Given the description of an element on the screen output the (x, y) to click on. 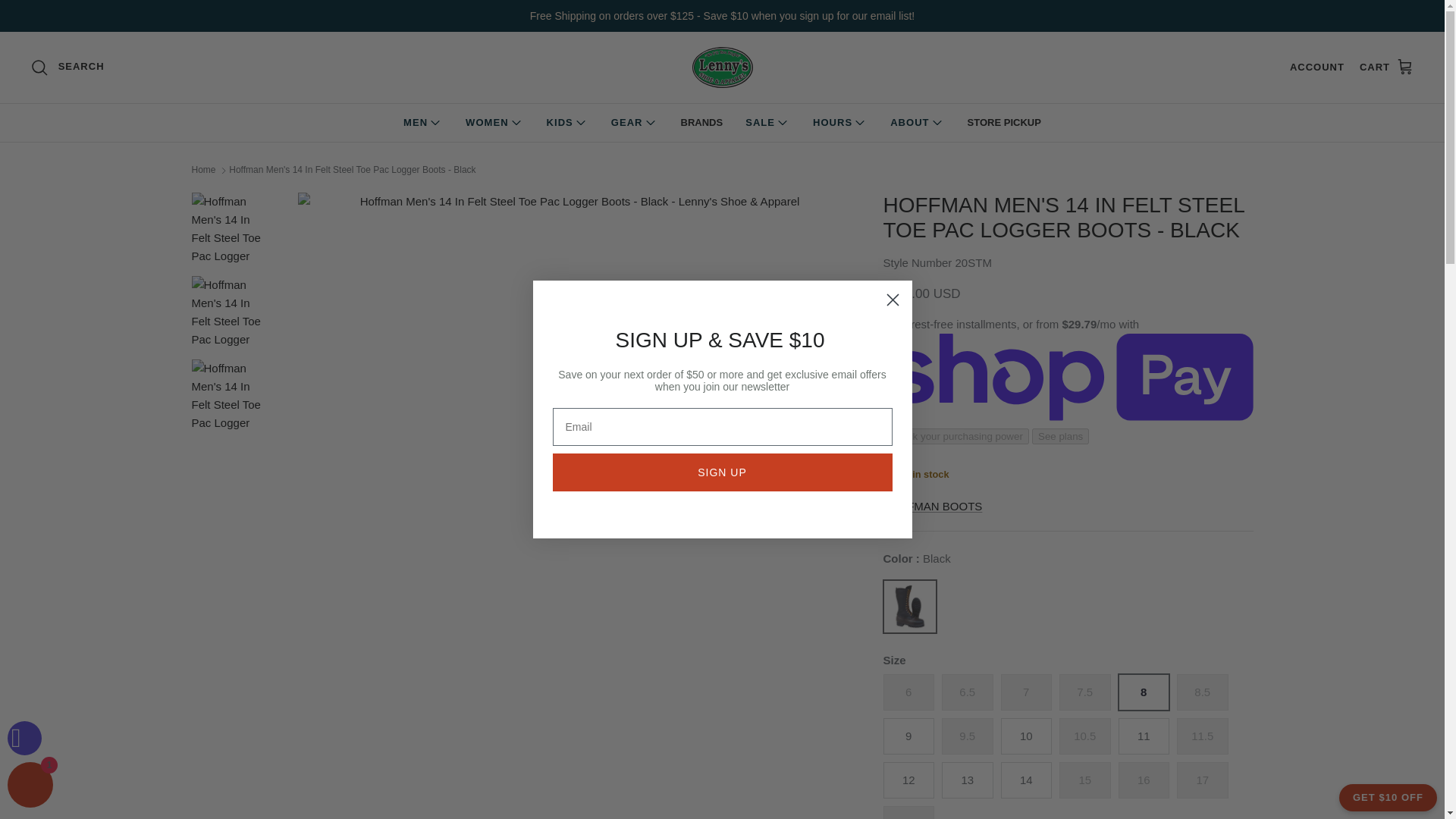
RIGHT (832, 468)
ACCOUNT (1316, 67)
SEARCH (67, 67)
Shopify online store chat (30, 786)
CART (1386, 66)
MEN (422, 122)
